Given the description of an element on the screen output the (x, y) to click on. 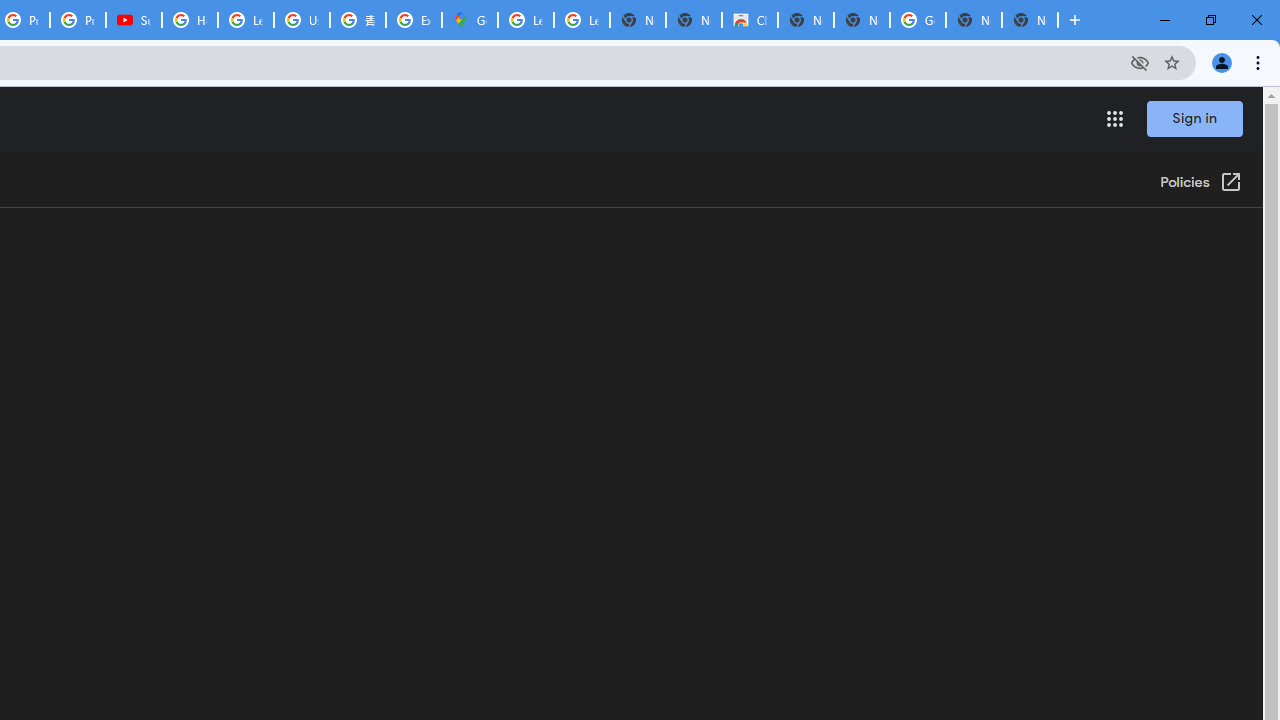
Subscriptions - YouTube (134, 20)
Explore new street-level details - Google Maps Help (413, 20)
Chrome Web Store (749, 20)
